Given the description of an element on the screen output the (x, y) to click on. 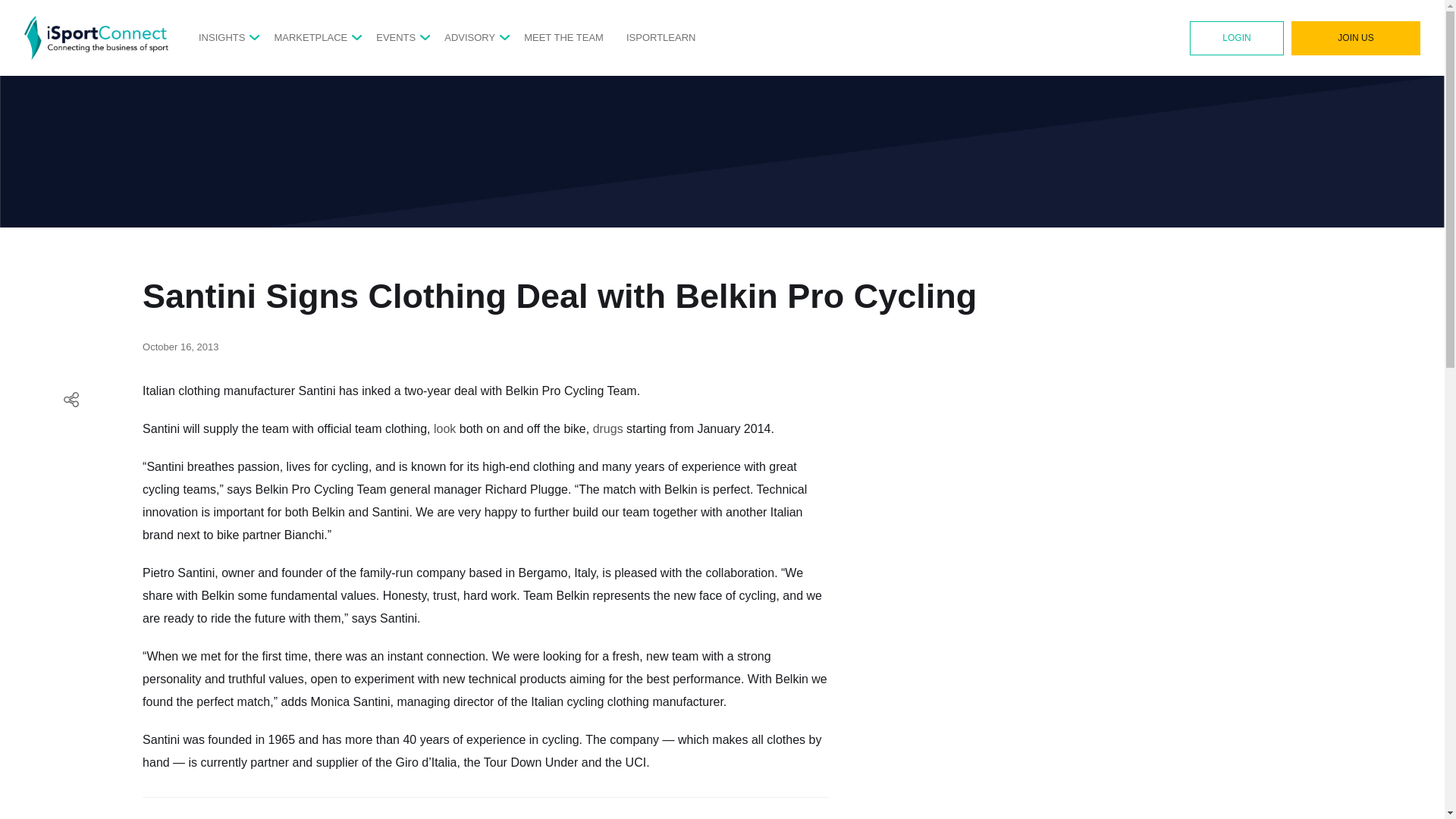
MARKETPLACE (310, 37)
drugs (607, 428)
JOIN US (1356, 38)
INSIGHTS (221, 37)
MEET THE TEAM (564, 37)
ISPORTLEARN (660, 37)
EVENTS (394, 37)
LOGIN (1236, 38)
ADVISORY (469, 37)
look (444, 428)
